Given the description of an element on the screen output the (x, y) to click on. 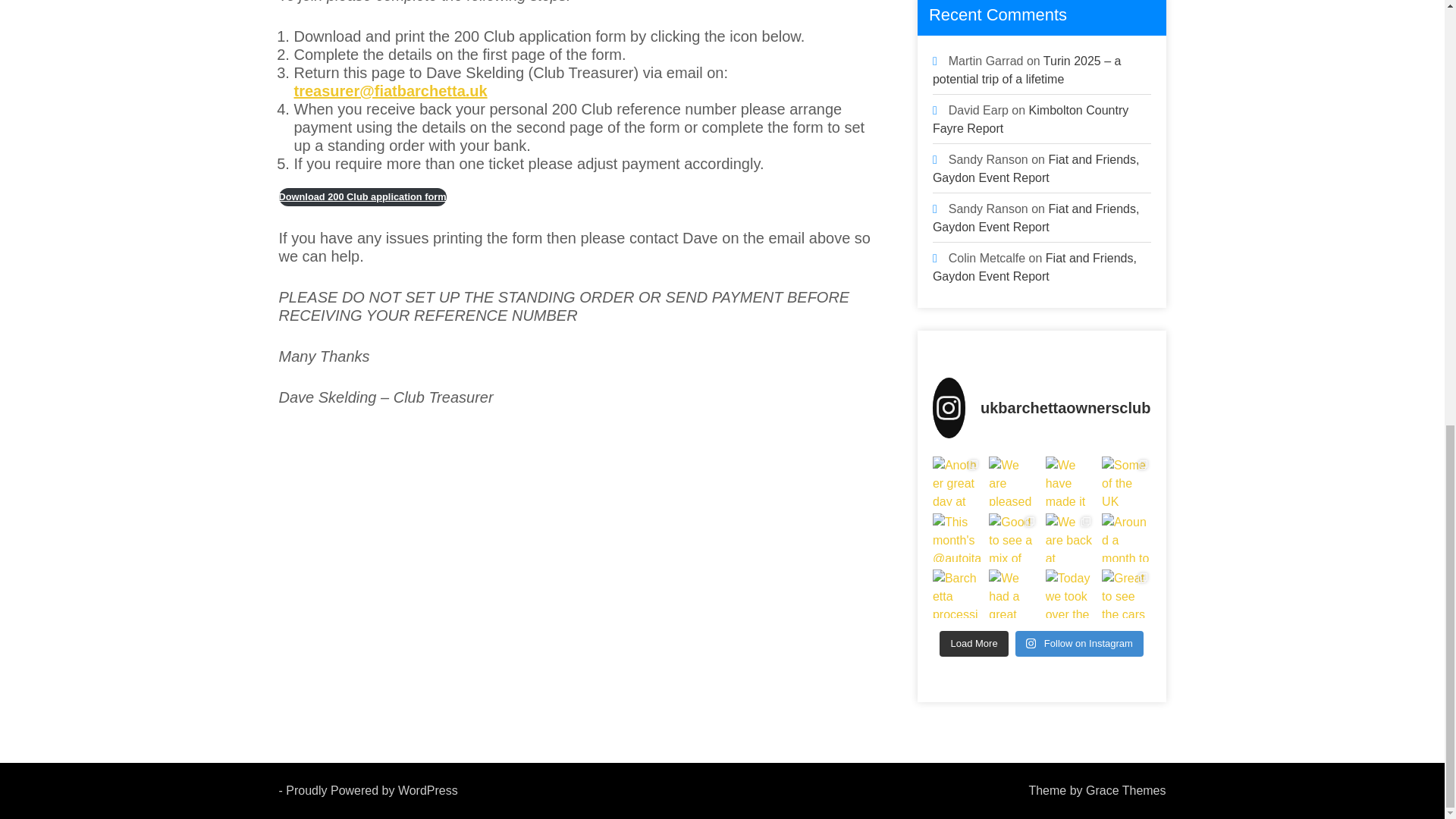
Kimbolton Country Fayre Report (1030, 119)
Fiat and Friends, Gaydon Event Report (1035, 266)
Download 200 Club application form (362, 197)
ukbarchettaownersclub (1042, 407)
Fiat and Friends, Gaydon Event Report (1036, 217)
Fiat and Friends, Gaydon Event Report (1036, 168)
